Given the description of an element on the screen output the (x, y) to click on. 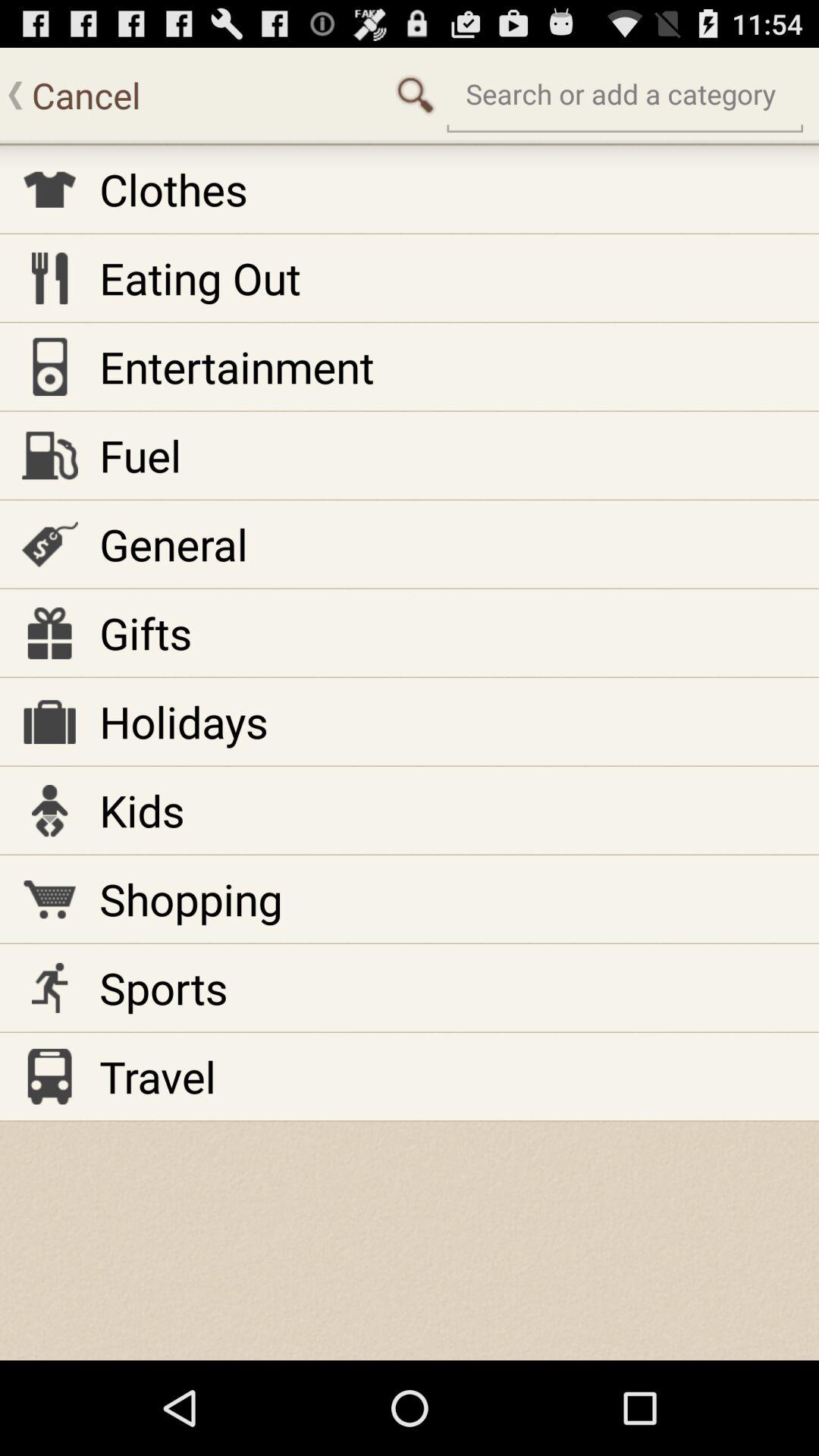
press item above the holidays (145, 632)
